Given the description of an element on the screen output the (x, y) to click on. 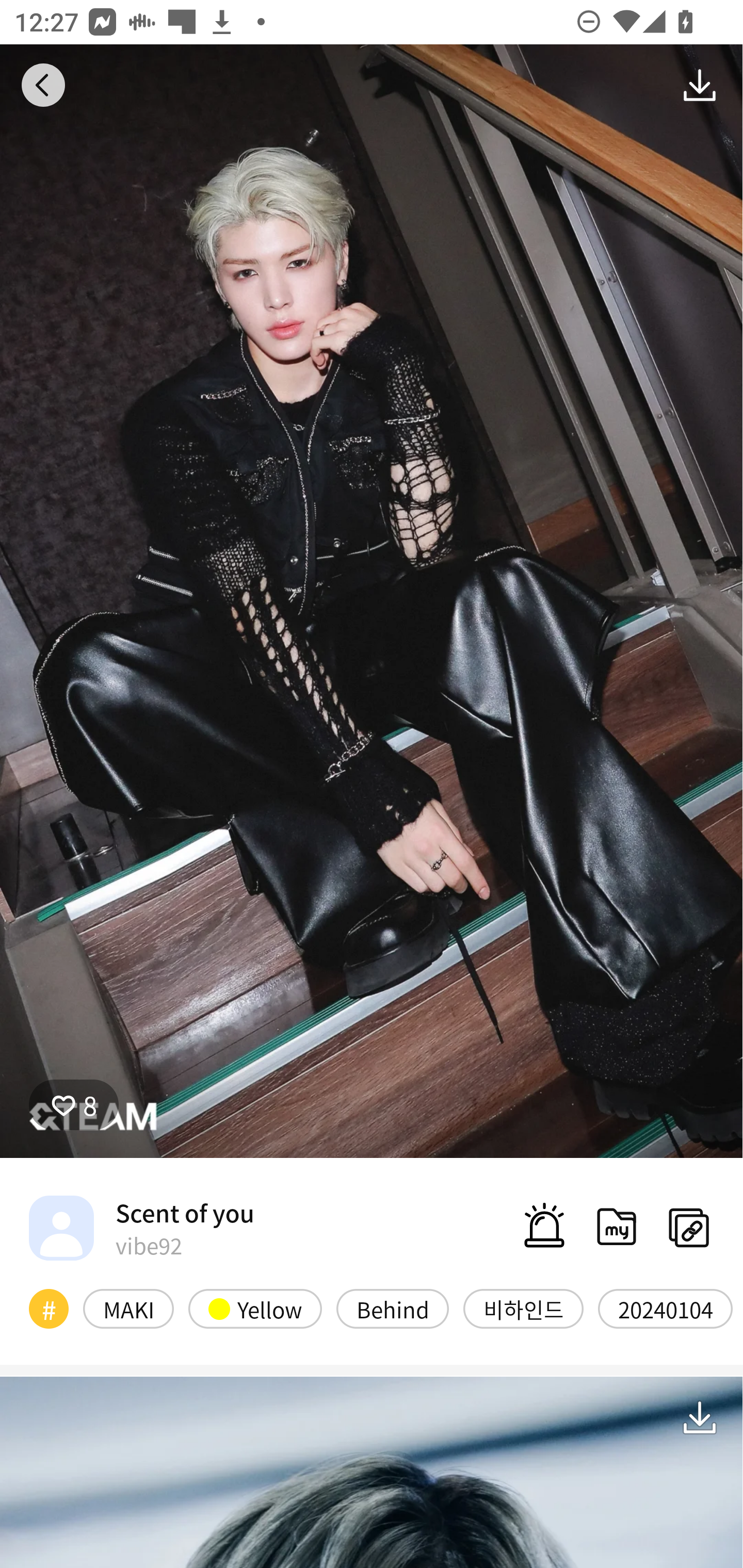
8 (73, 1104)
Scent of you vibe92 (141, 1227)
MAKI (128, 1308)
Yellow (254, 1308)
Behind (392, 1308)
비하인드 (523, 1308)
20240104 (665, 1308)
